Given the description of an element on the screen output the (x, y) to click on. 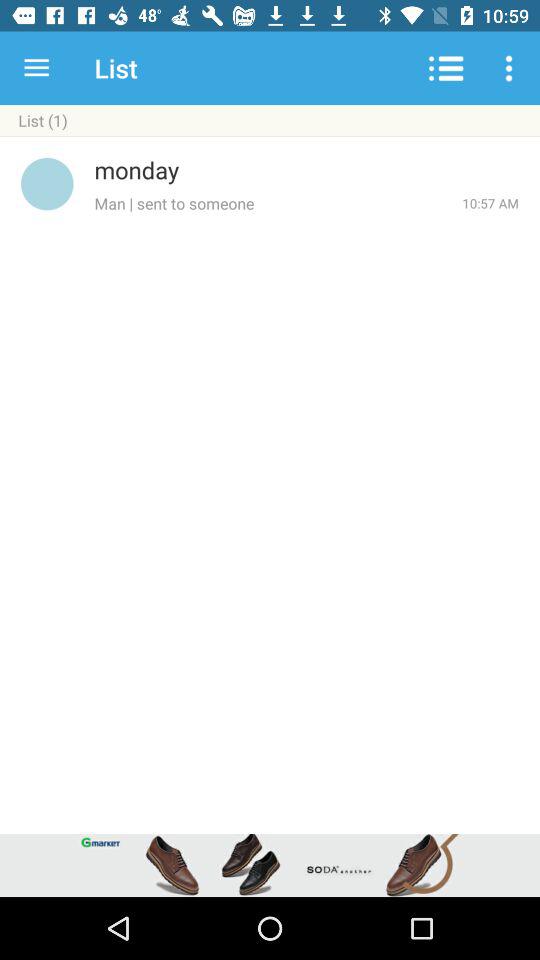
select the icon above man sent to item (306, 169)
